Given the description of an element on the screen output the (x, y) to click on. 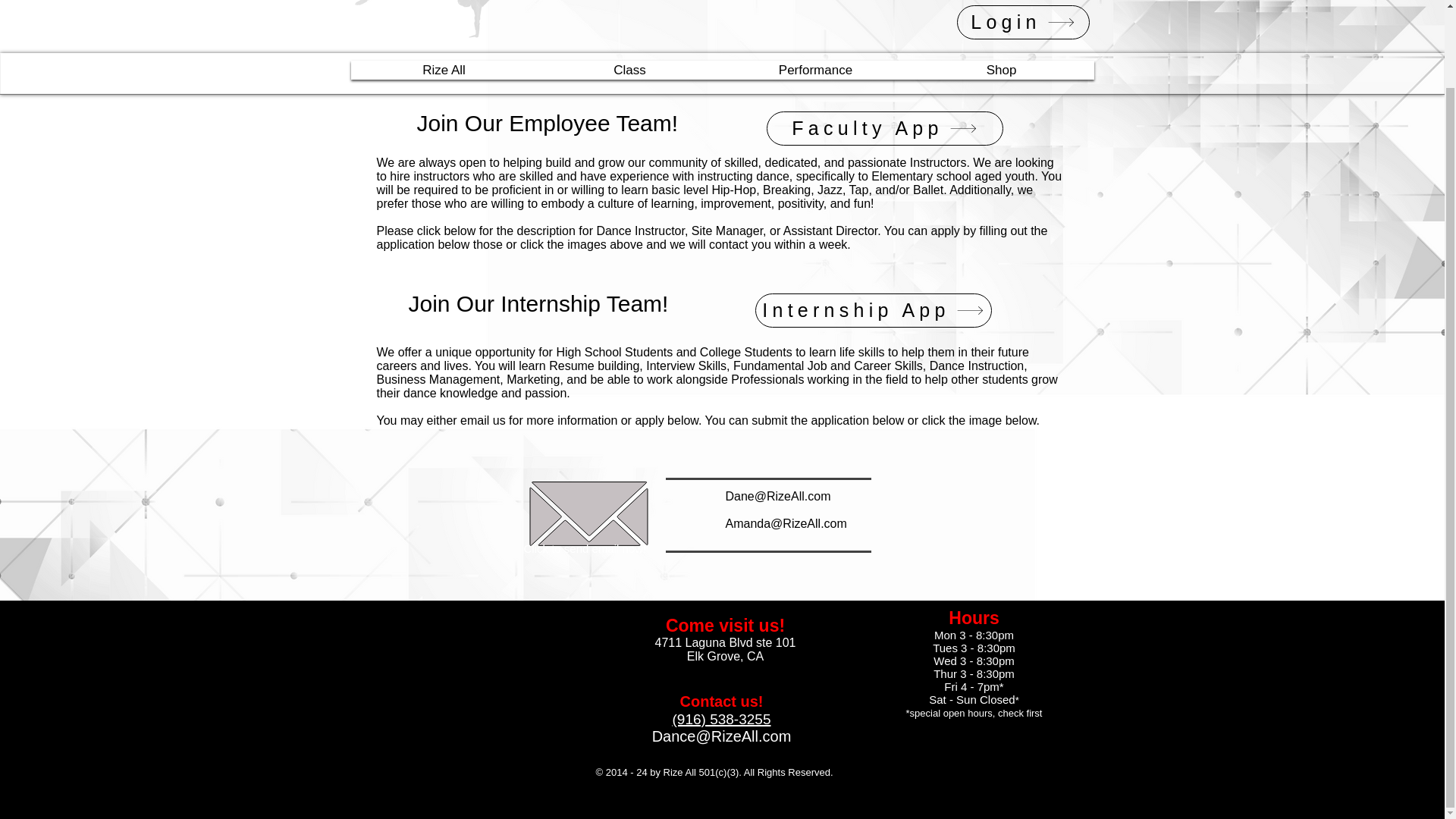
Internship App (873, 310)
Faculty App (884, 128)
Shop (1000, 69)
Rize All (444, 69)
Login (1022, 21)
Google Maps (459, 676)
Performance (815, 69)
Class (629, 69)
